Given the description of an element on the screen output the (x, y) to click on. 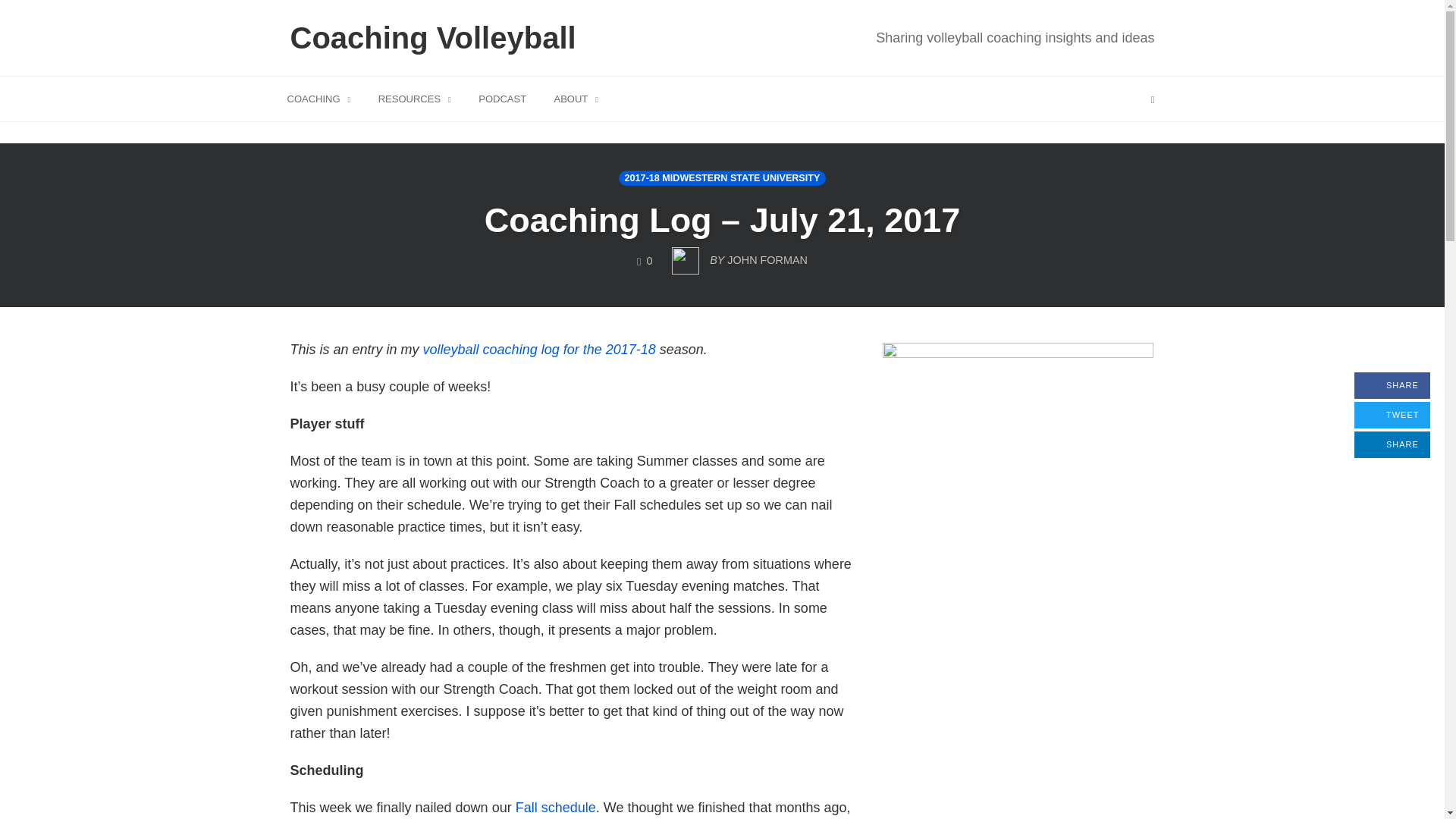
volleyball coaching log for the 2017-18 (539, 349)
BY JOHN FORMAN (739, 256)
Coaching Volleyball (433, 37)
Sharing volleyball coaching insights and ideas (1391, 385)
ABOUT (1015, 37)
About Coaching Volleyball (575, 97)
PODCAST (575, 97)
